Given the description of an element on the screen output the (x, y) to click on. 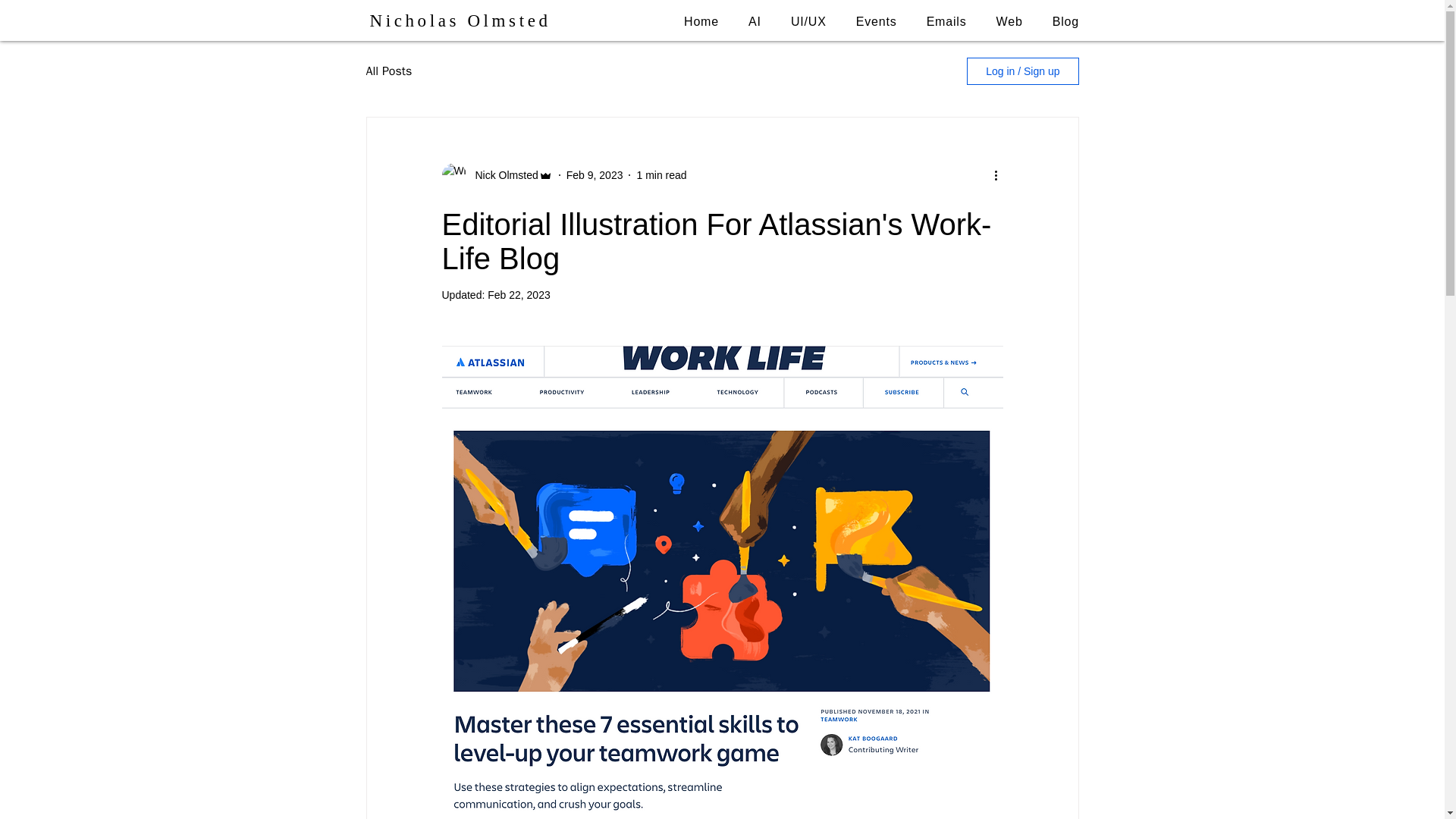
Feb 22, 2023 (518, 295)
All Posts (388, 71)
Emails (946, 21)
Events (876, 21)
Blog (1064, 21)
Web (1008, 21)
Feb 9, 2023 (594, 174)
1 min read (660, 174)
AI (754, 21)
Home (700, 21)
Nicholas Olmsted (460, 20)
Nick Olmsted (501, 175)
